Given the description of an element on the screen output the (x, y) to click on. 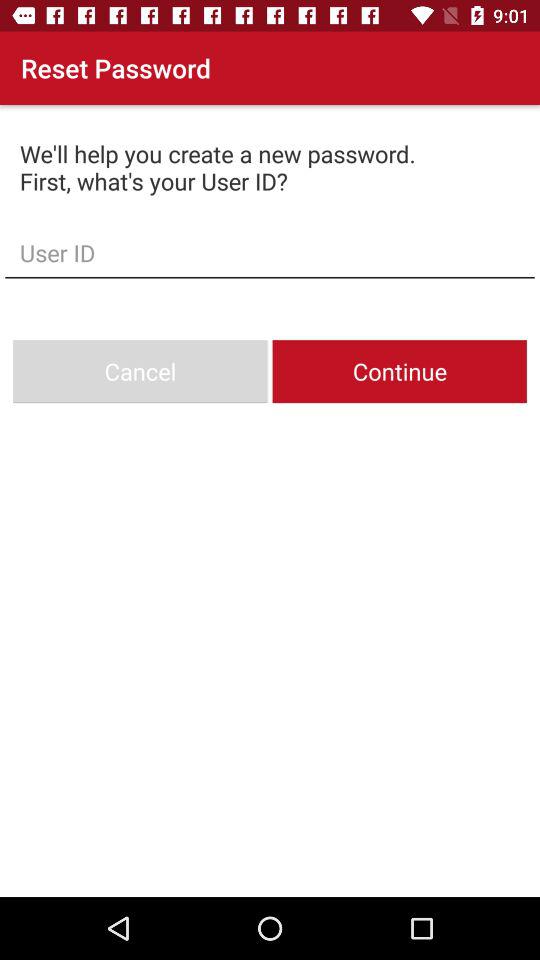
choose icon next to the continue item (140, 371)
